Given the description of an element on the screen output the (x, y) to click on. 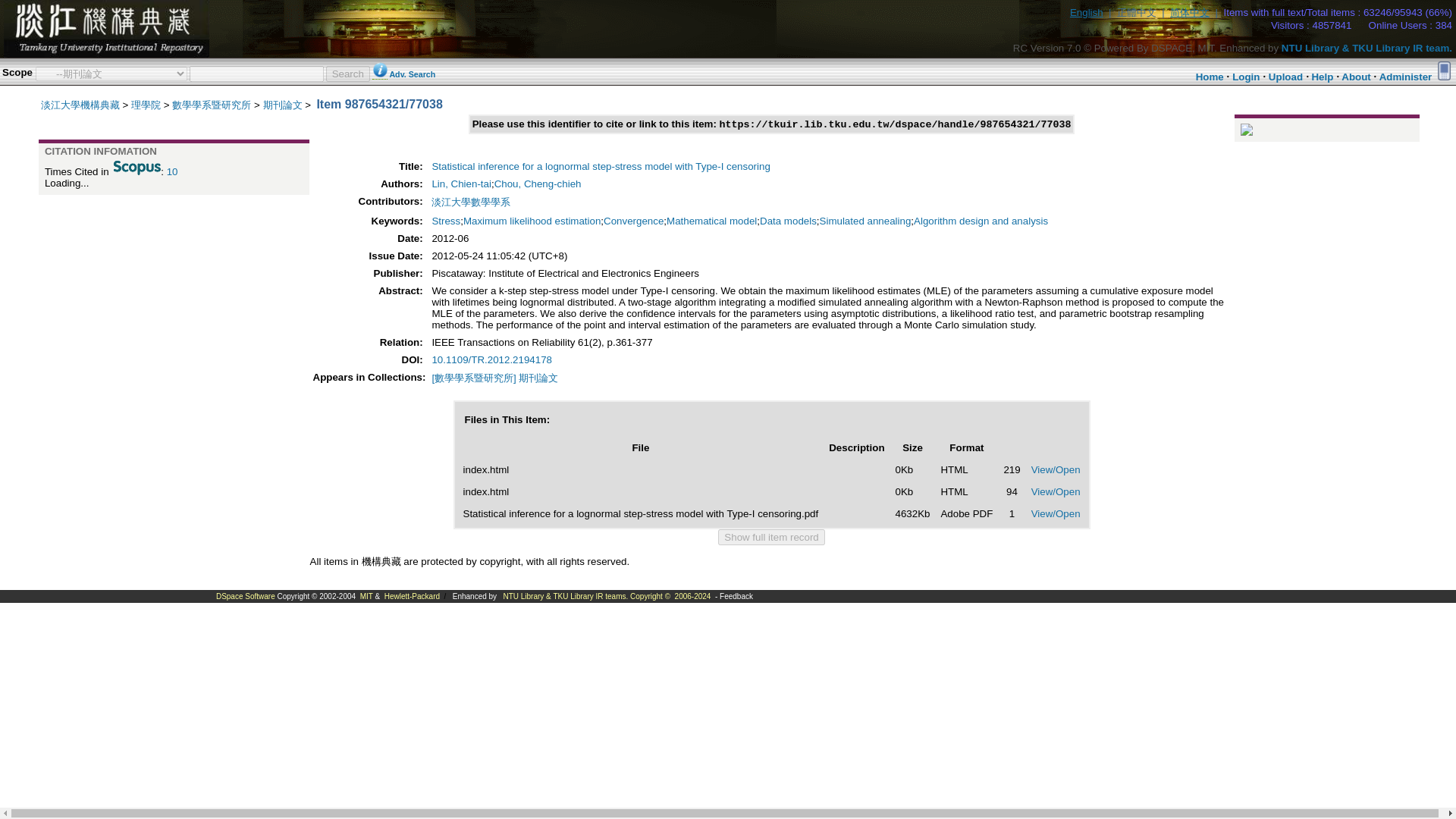
Algorithm design and analysis (981, 220)
Home (1209, 76)
Stress (445, 220)
Upload (1285, 76)
Data models (788, 220)
Help (1322, 76)
Simulated annealing (865, 220)
Show full item record (770, 537)
Lin, Chien-tai (461, 183)
Chou, Cheng-chieh (537, 183)
DSpace Software (245, 596)
Search (347, 73)
Adv. Search (411, 73)
Login (1245, 76)
